Given the description of an element on the screen output the (x, y) to click on. 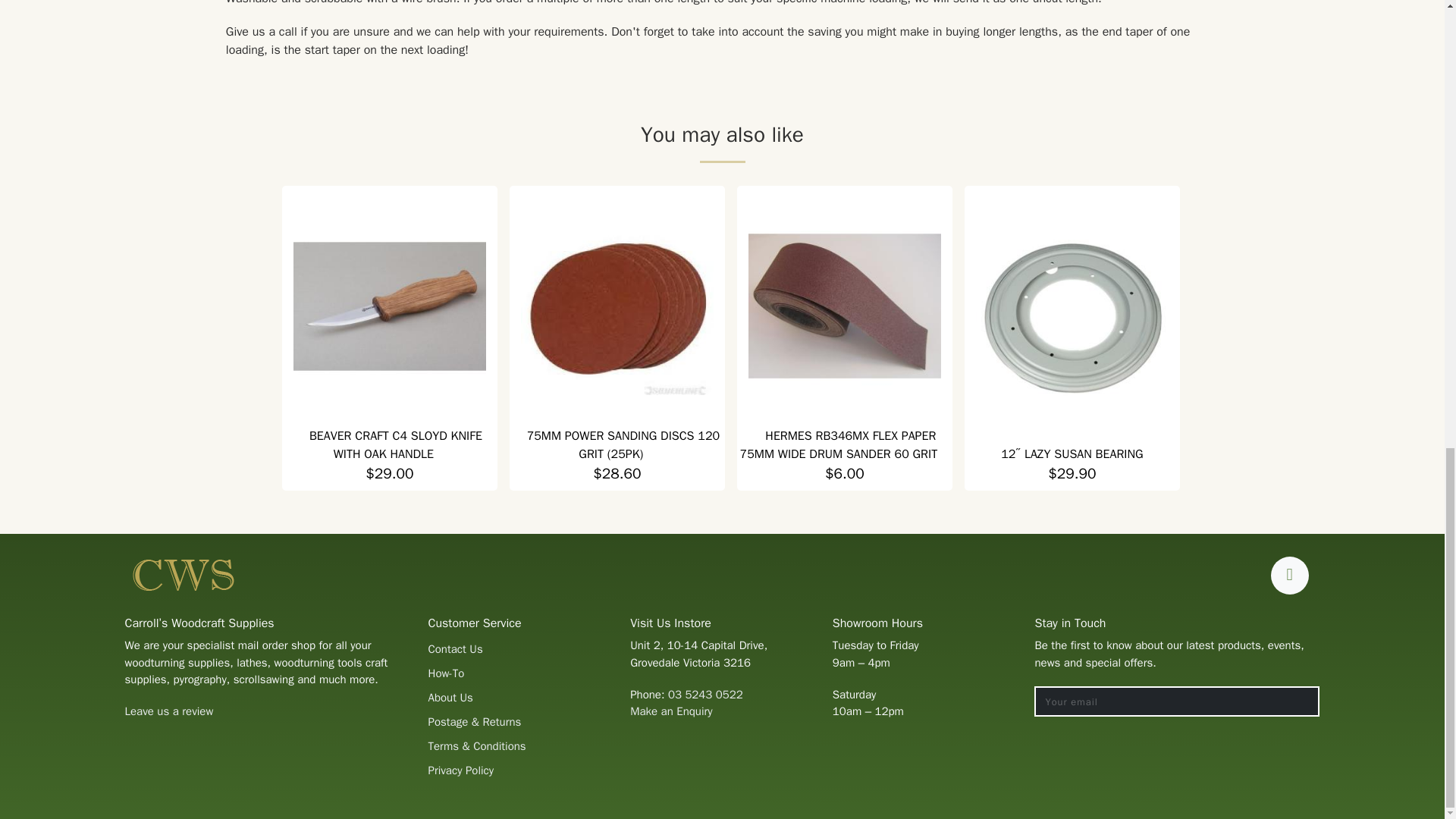
Hermes RB346MX Flex Paper 75mm Wide Drum Sander 60 grit (838, 444)
facebook (1289, 575)
Beaver Craft C4 Sloyd Knife with Oak Handle (394, 444)
Hermes RB346MX Flex Paper 75mm Wide Drum Sander 60 grit (844, 305)
Beaver Craft C4 Sloyd Knife with Oak Handle (390, 305)
